Given the description of an element on the screen output the (x, y) to click on. 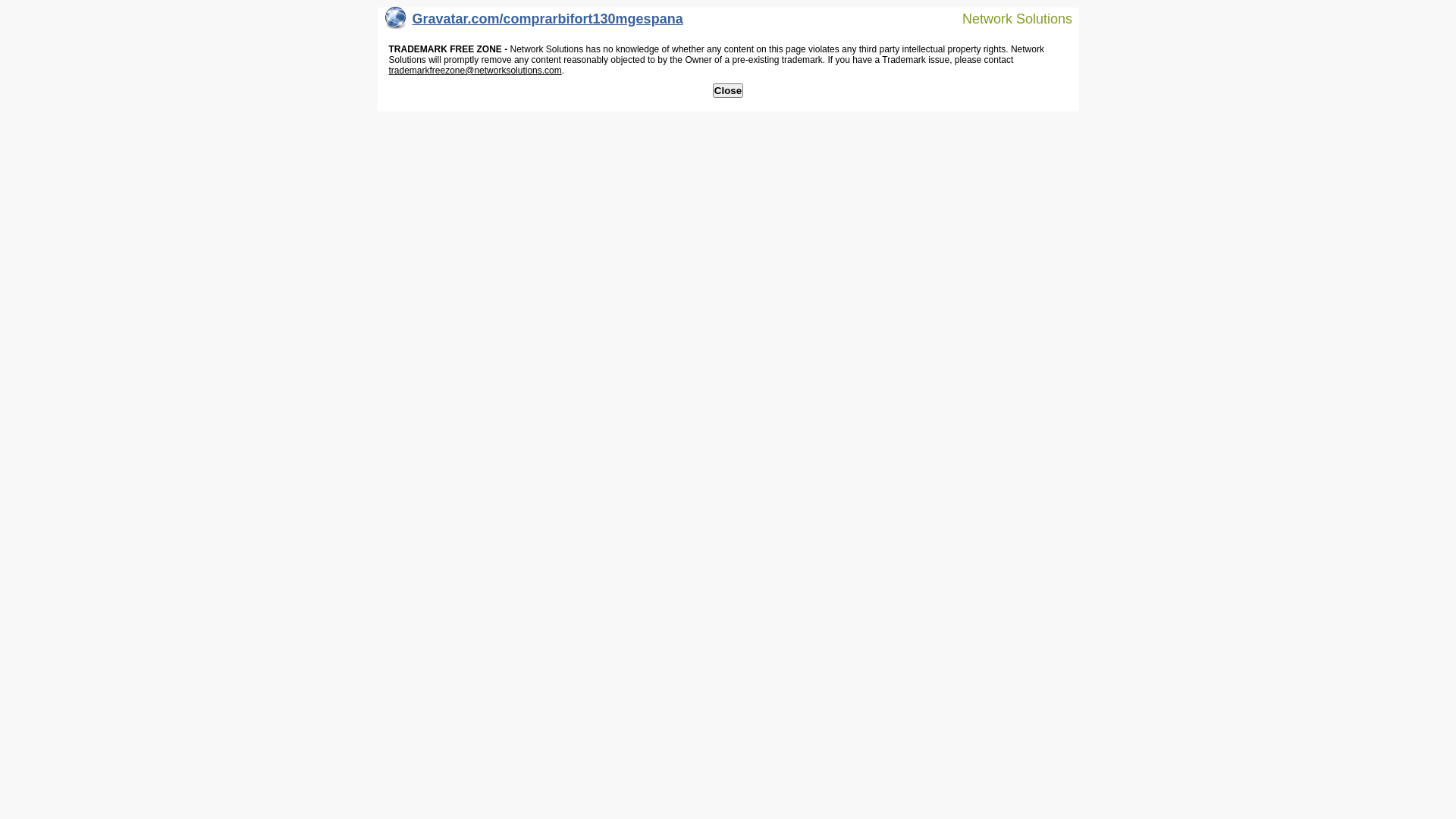
trademarkfreezone@networksolutions.com Element type: text (474, 70)
Network Solutions Element type: text (1007, 17)
Gravatar.com/comprarbifort130mgespana Element type: text (534, 21)
Close Element type: text (727, 90)
